Given the description of an element on the screen output the (x, y) to click on. 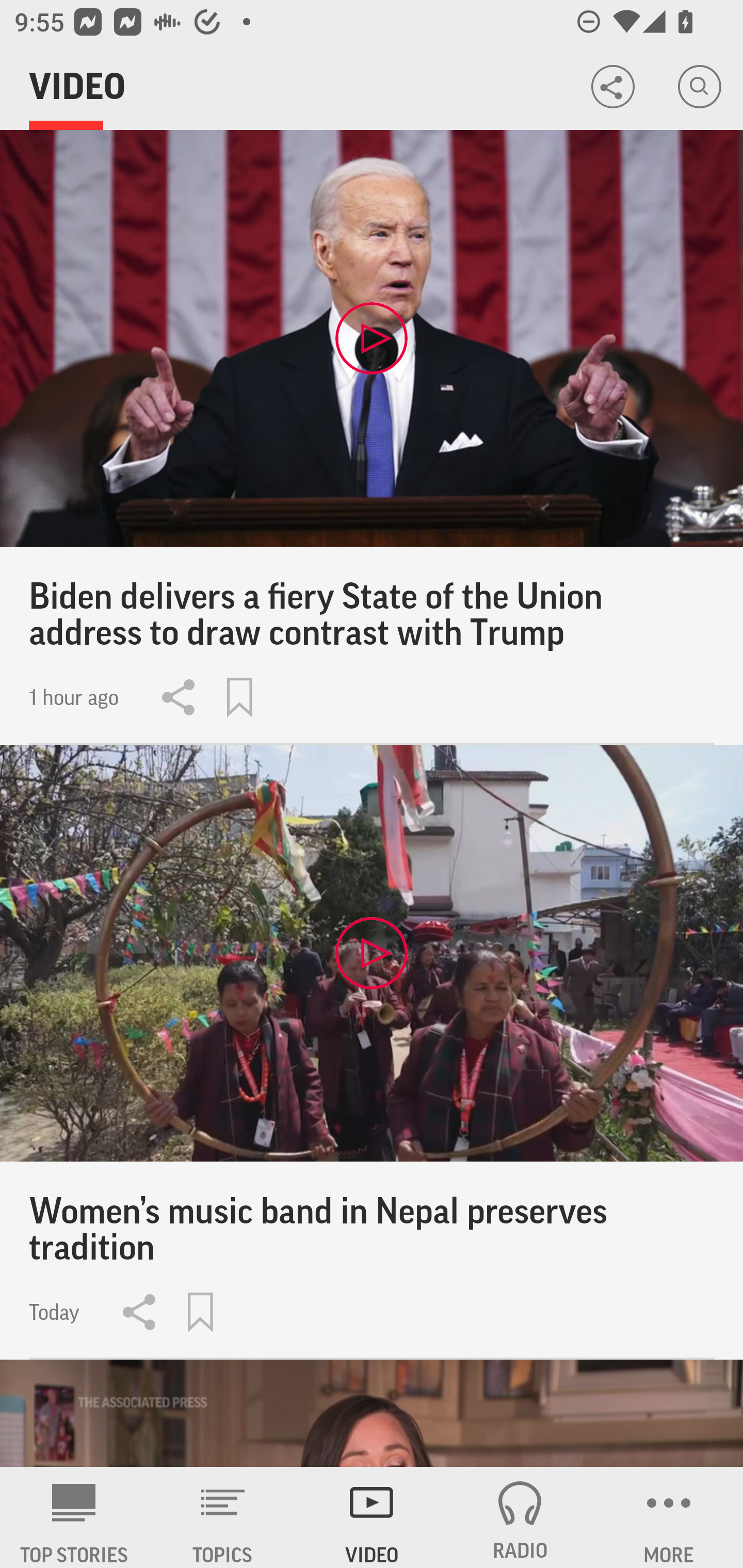
AP News TOP STORIES (74, 1517)
TOPICS (222, 1517)
VIDEO (371, 1517)
RADIO (519, 1517)
MORE (668, 1517)
